Given the description of an element on the screen output the (x, y) to click on. 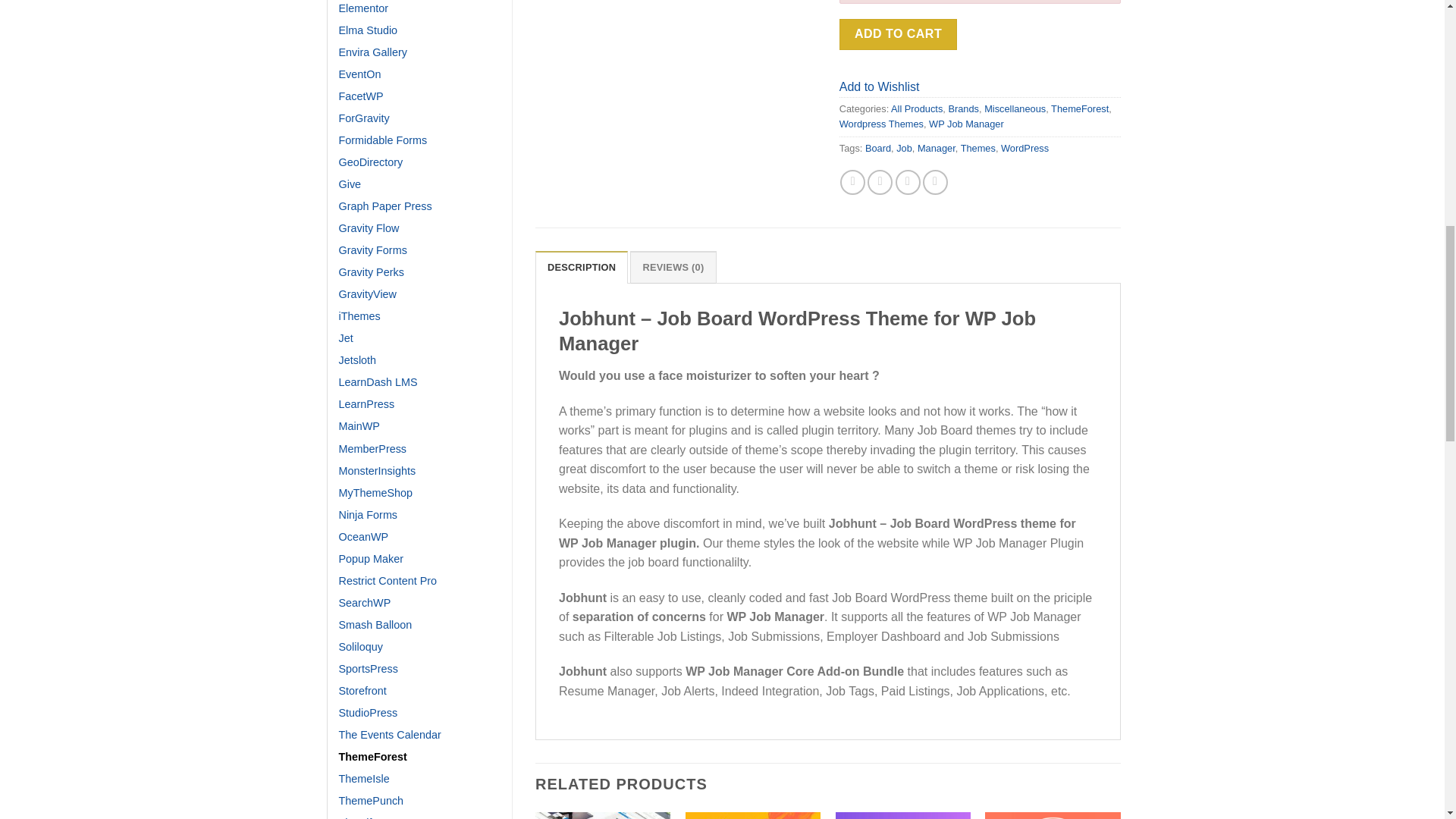
Share on Twitter (879, 181)
Share on Facebook (852, 181)
Email to a Friend (907, 181)
Pin on Pinterest (935, 181)
